Given the description of an element on the screen output the (x, y) to click on. 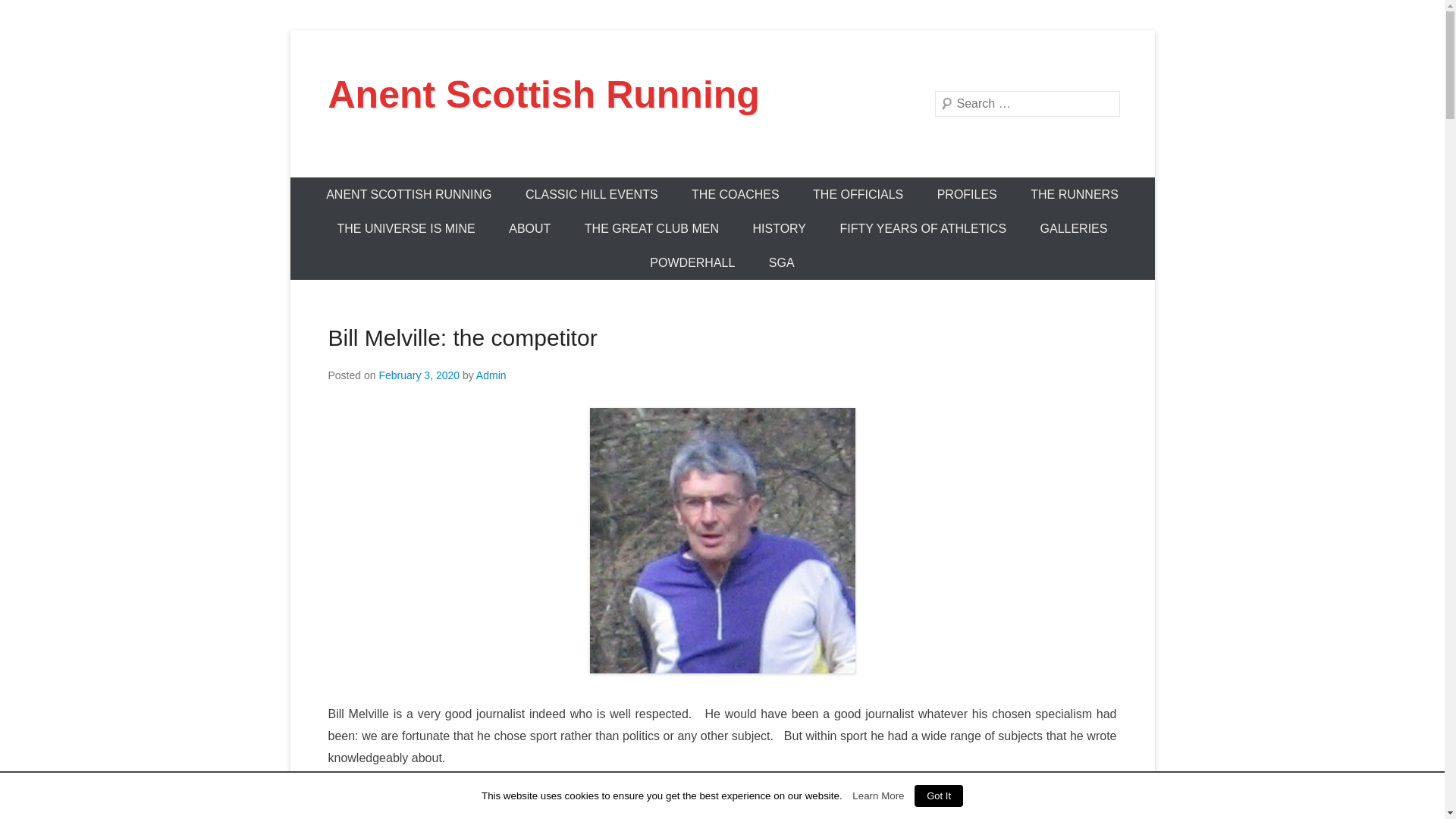
THE RUNNERS (1074, 194)
GALLERIES (1073, 228)
PROFILES (966, 194)
ANENT SCOTTISH RUNNING (408, 194)
1:38 pm (419, 375)
ABOUT (529, 228)
THE COACHES (735, 194)
CLASSIC HILL EVENTS (591, 194)
POWDERHALL (691, 262)
THE UNIVERSE IS MINE (405, 228)
